Given the description of an element on the screen output the (x, y) to click on. 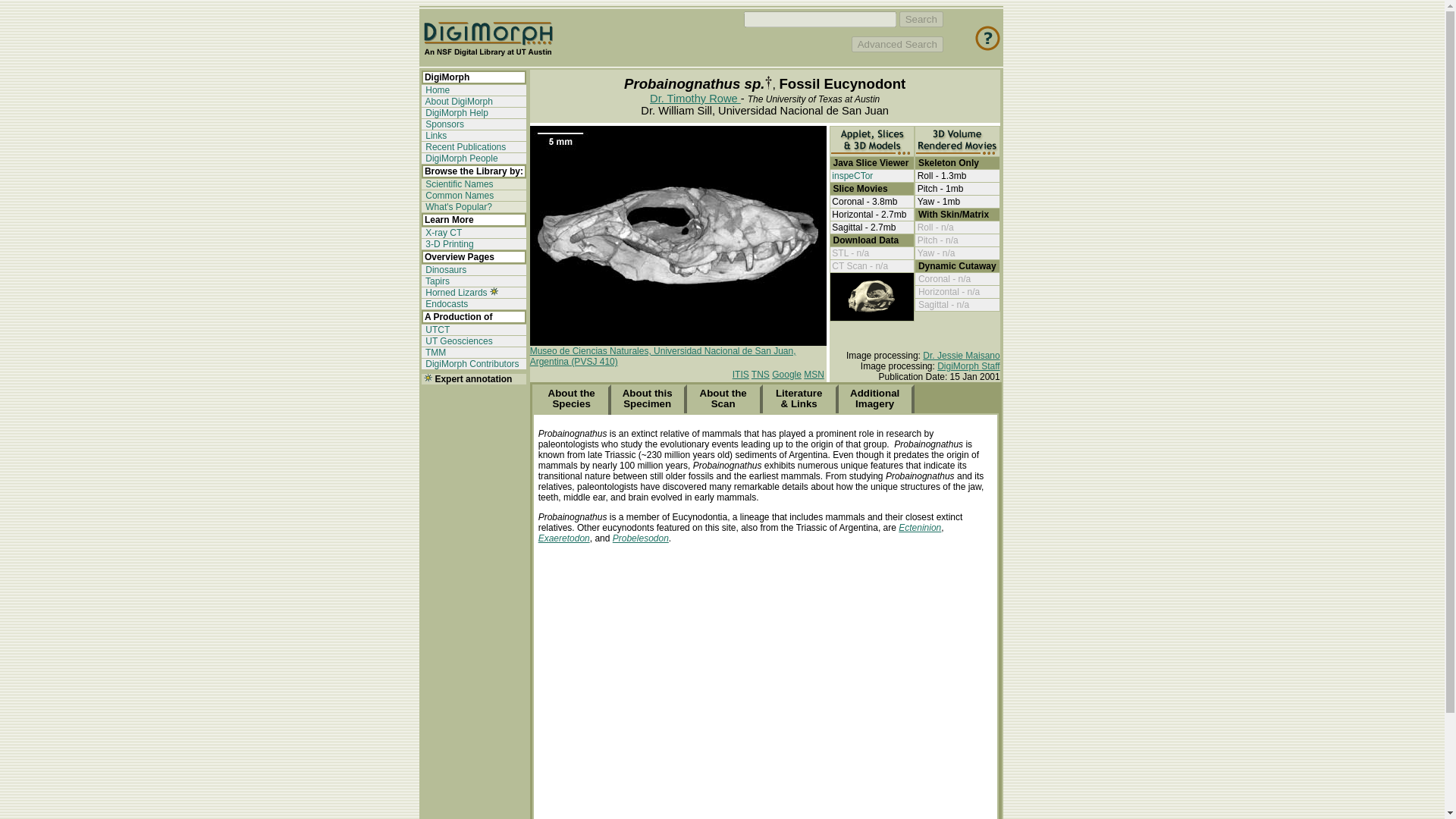
 Recent Publications (464, 146)
 Common Names (458, 195)
 Horned Lizards (455, 292)
 Dinosaurs (444, 269)
 UT Geosciences (458, 340)
Yaw - 1mb (938, 201)
Advanced Search (897, 44)
Search (921, 19)
Advanced Search (897, 44)
Sagittal - 2.7mb (863, 226)
